Given the description of an element on the screen output the (x, y) to click on. 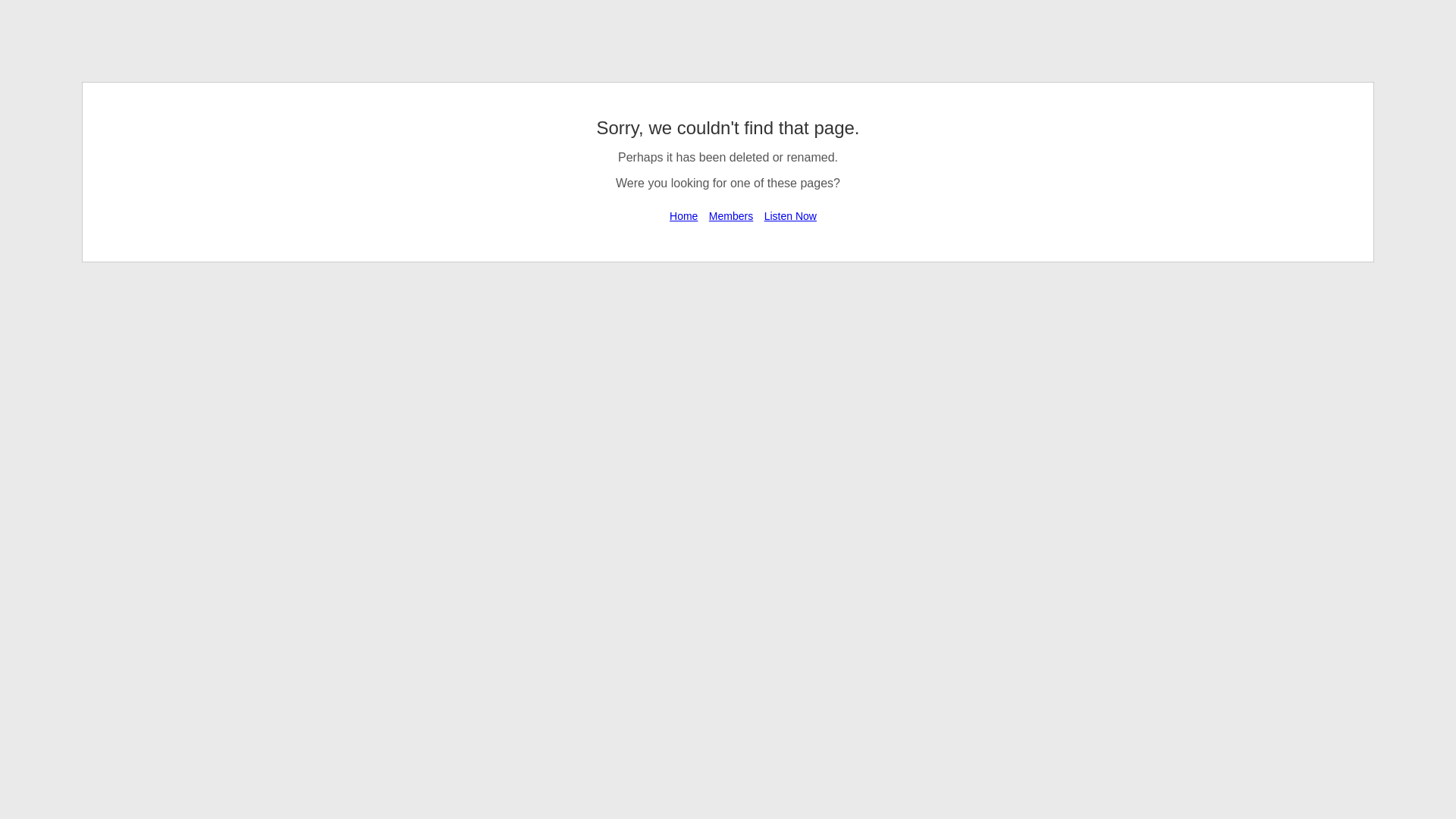
Members (730, 215)
Listen Now (790, 215)
Home (683, 215)
